Given the description of an element on the screen output the (x, y) to click on. 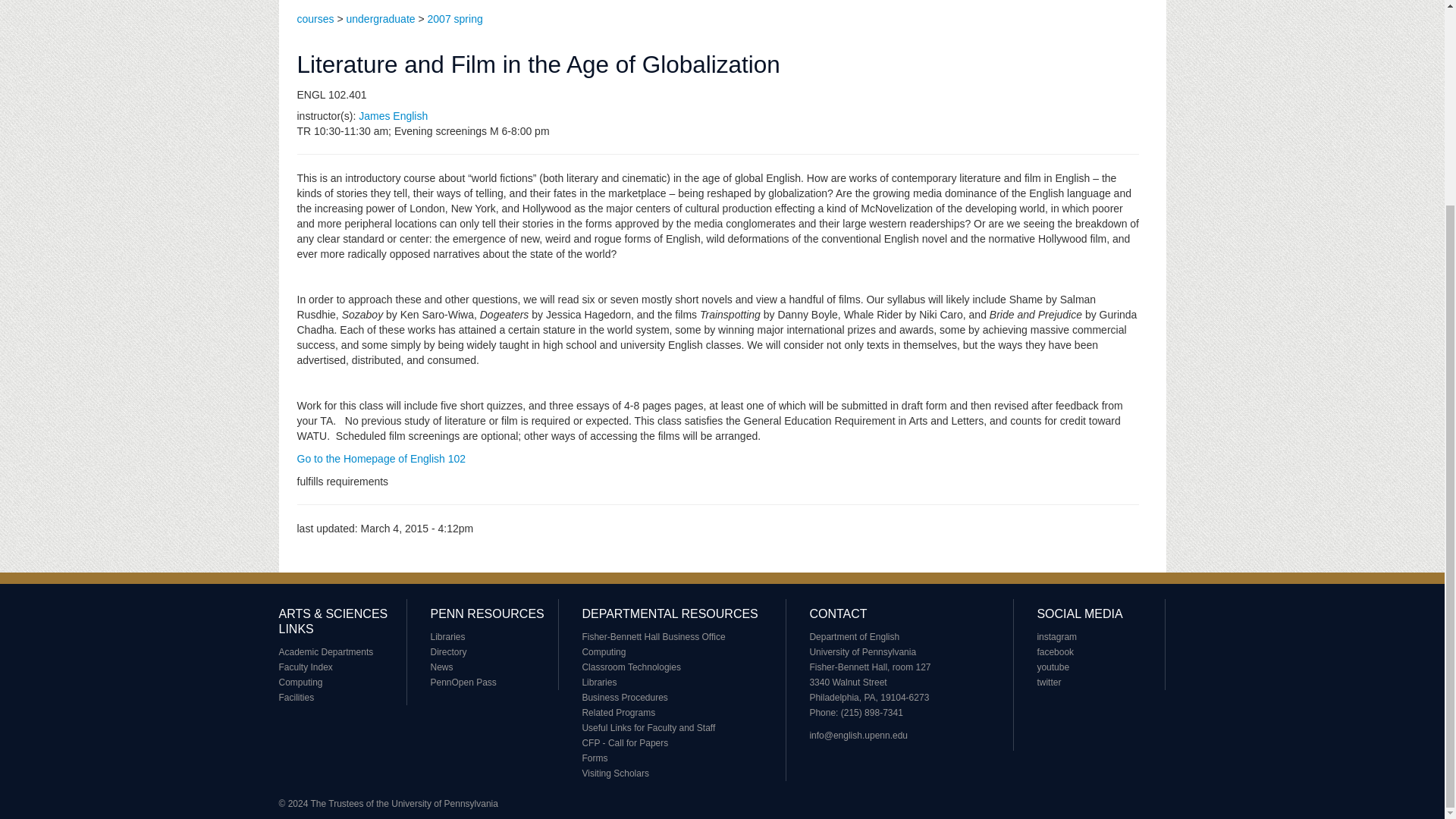
Fisher-Bennett Hall Business Office (652, 636)
undergraduate (380, 19)
Business Procedures (623, 697)
courses (315, 19)
Computing (603, 652)
Go to the Homepage of English 102 (381, 458)
Classroom Technologies (630, 666)
News (440, 666)
James English (393, 115)
Facilities (296, 697)
